Given the description of an element on the screen output the (x, y) to click on. 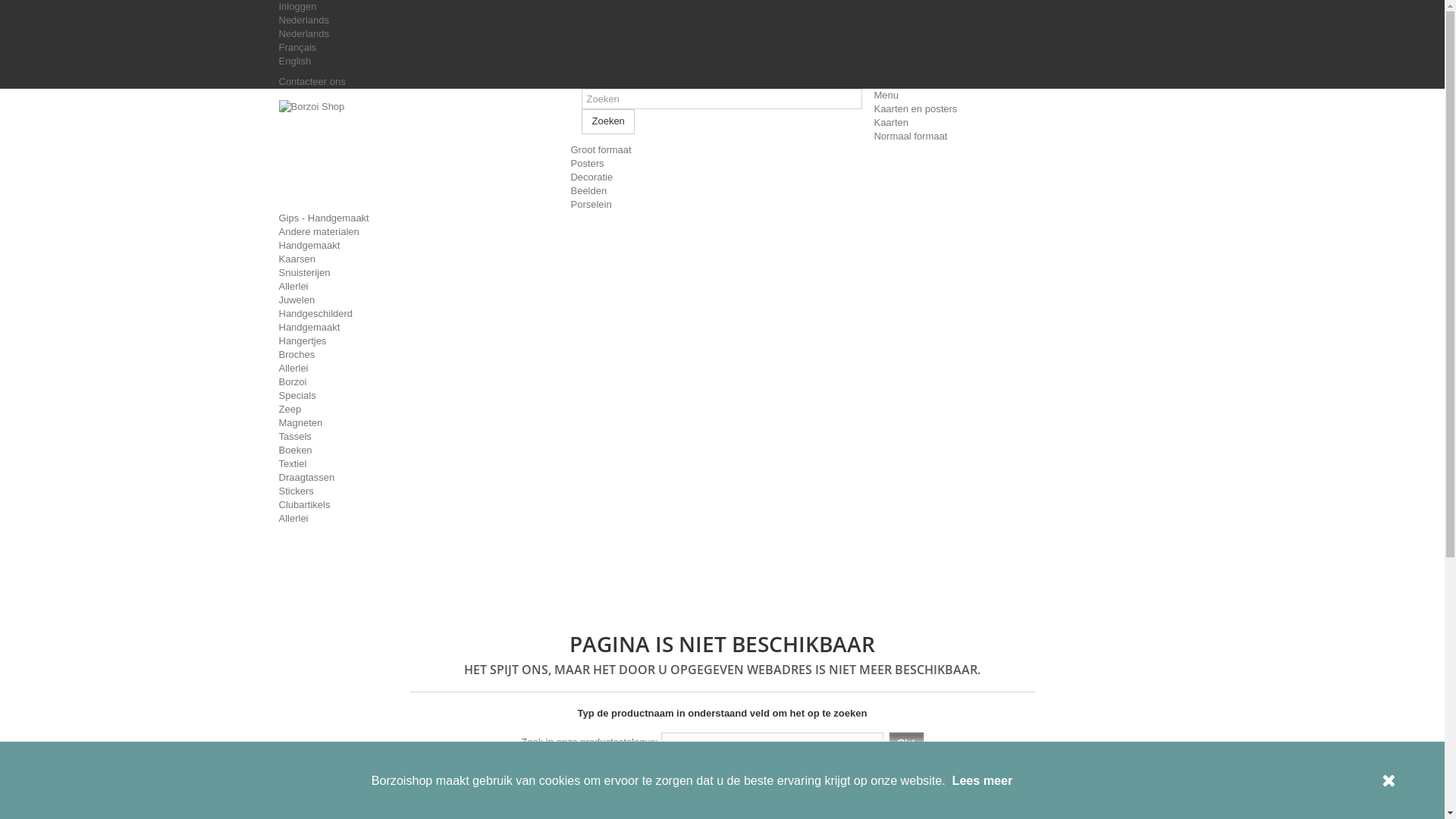
Magneten Element type: text (301, 422)
Clubartikels Element type: text (304, 504)
Porselein Element type: text (590, 204)
Broches Element type: text (297, 354)
Allerlei Element type: text (293, 285)
Kaarten en posters Element type: text (915, 108)
Posters Element type: text (586, 163)
Zeep Element type: text (290, 408)
Andere materialen Element type: text (319, 231)
Lees meer Element type: text (982, 780)
Snuisterijen Element type: text (304, 272)
Handgemaakt Element type: text (309, 326)
Handgeschilderd Element type: text (316, 313)
Normaal formaat Element type: text (910, 135)
Hangertjes Element type: text (302, 340)
Contacteer ons Element type: text (312, 81)
English Element type: text (295, 60)
Allerlei Element type: text (293, 367)
Tassels Element type: text (295, 436)
Decoratie Element type: text (591, 176)
Textiel Element type: text (293, 463)
Draagtassen Element type: text (307, 477)
Specials Element type: text (297, 395)
Borzoi Element type: text (293, 381)
Juwelen Element type: text (297, 299)
Allerlei Element type: text (293, 518)
Zoeken Element type: text (607, 121)
Kaarsen Element type: text (297, 258)
Borzoi Shop Element type: hover (419, 152)
Inloggen Element type: text (297, 6)
Groot formaat Element type: text (600, 149)
Boeken Element type: text (295, 449)
Kaarten Element type: text (890, 122)
Stickers Element type: text (296, 490)
Gips - Handgemaakt Element type: text (324, 217)
Handgemaakt Element type: text (309, 245)
Beelden Element type: text (588, 190)
